Given the description of an element on the screen output the (x, y) to click on. 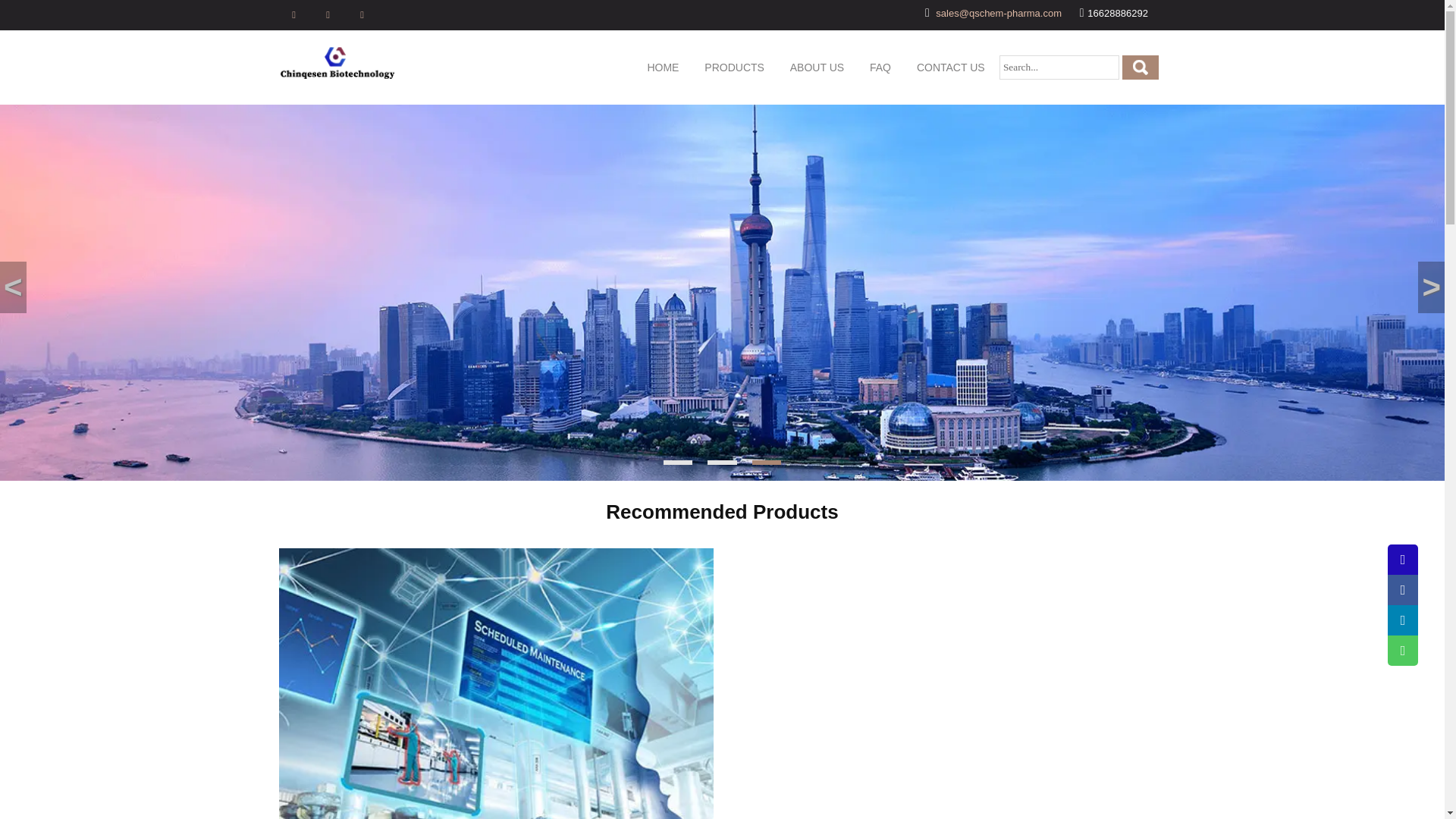
twitter (327, 15)
ABOUT US (817, 67)
Shanghai Chinqesen Biotechnology Co., Ltd. (336, 61)
Search (1140, 67)
PRODUCTS (734, 67)
High-end custom (496, 683)
whatsApp (362, 15)
Search (1140, 67)
CONTACT US (950, 67)
Search (1140, 67)
facebook (293, 15)
